Given the description of an element on the screen output the (x, y) to click on. 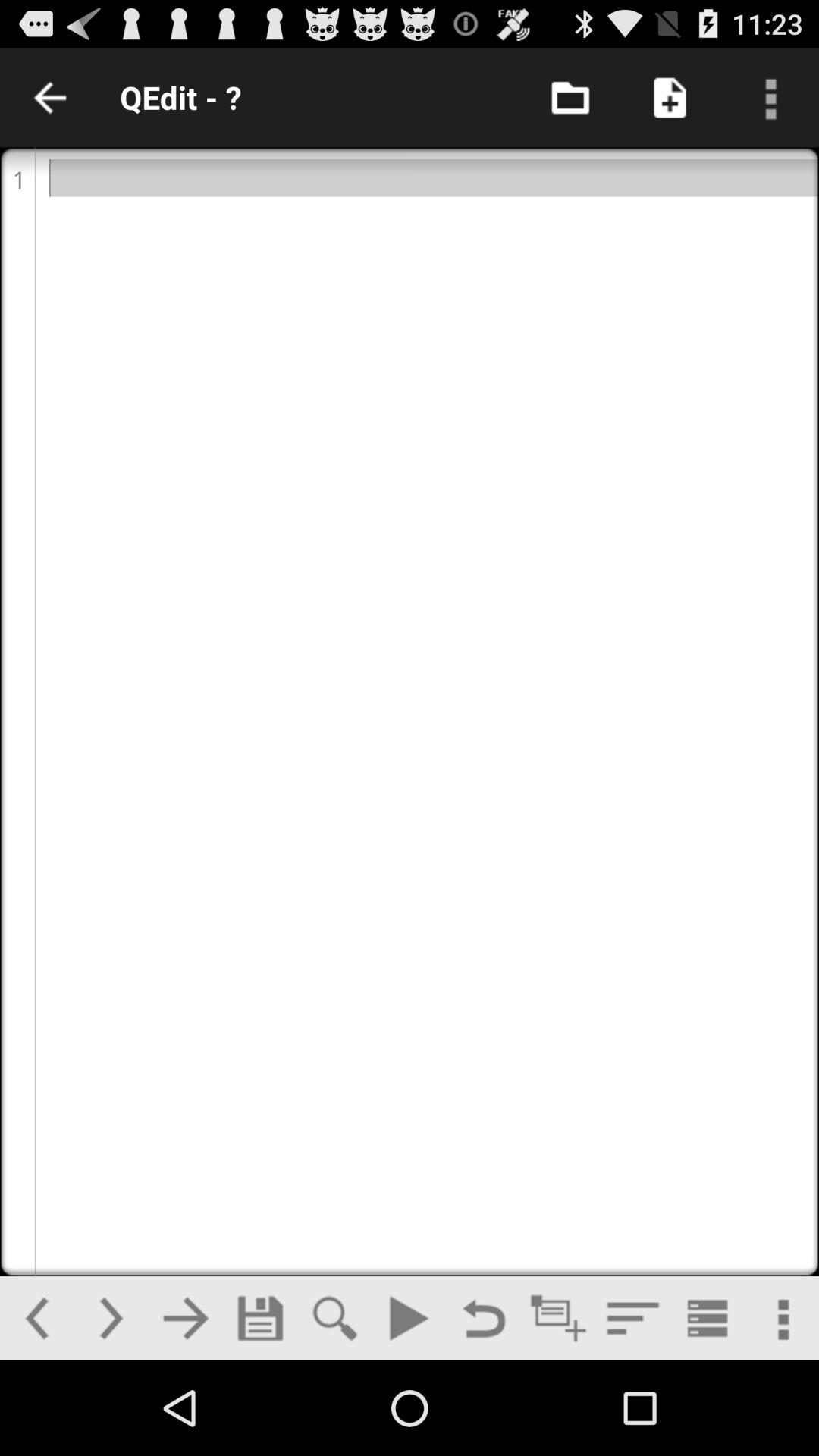
search (334, 1318)
